Given the description of an element on the screen output the (x, y) to click on. 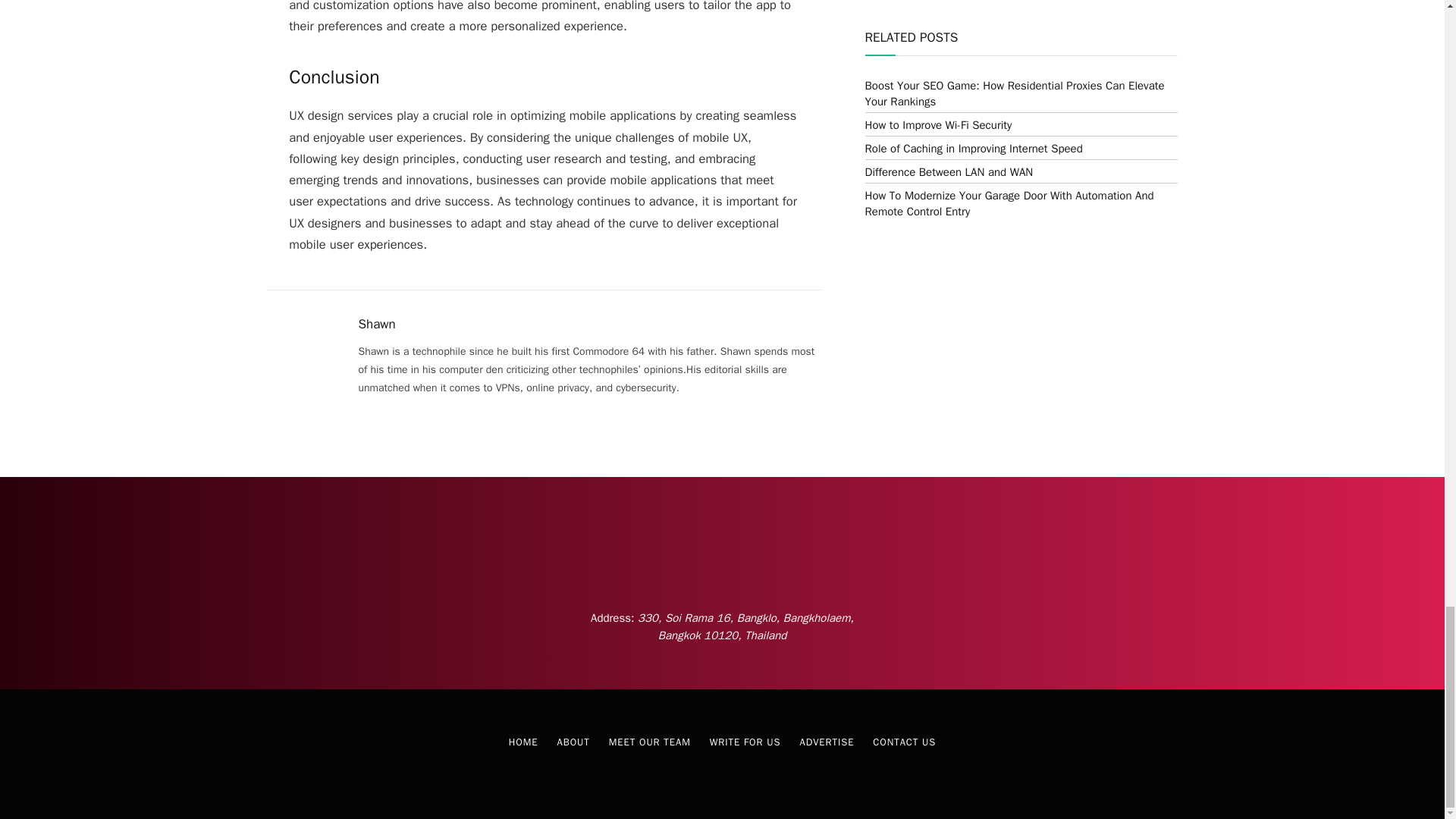
Posts by Shawn (376, 324)
